Given the description of an element on the screen output the (x, y) to click on. 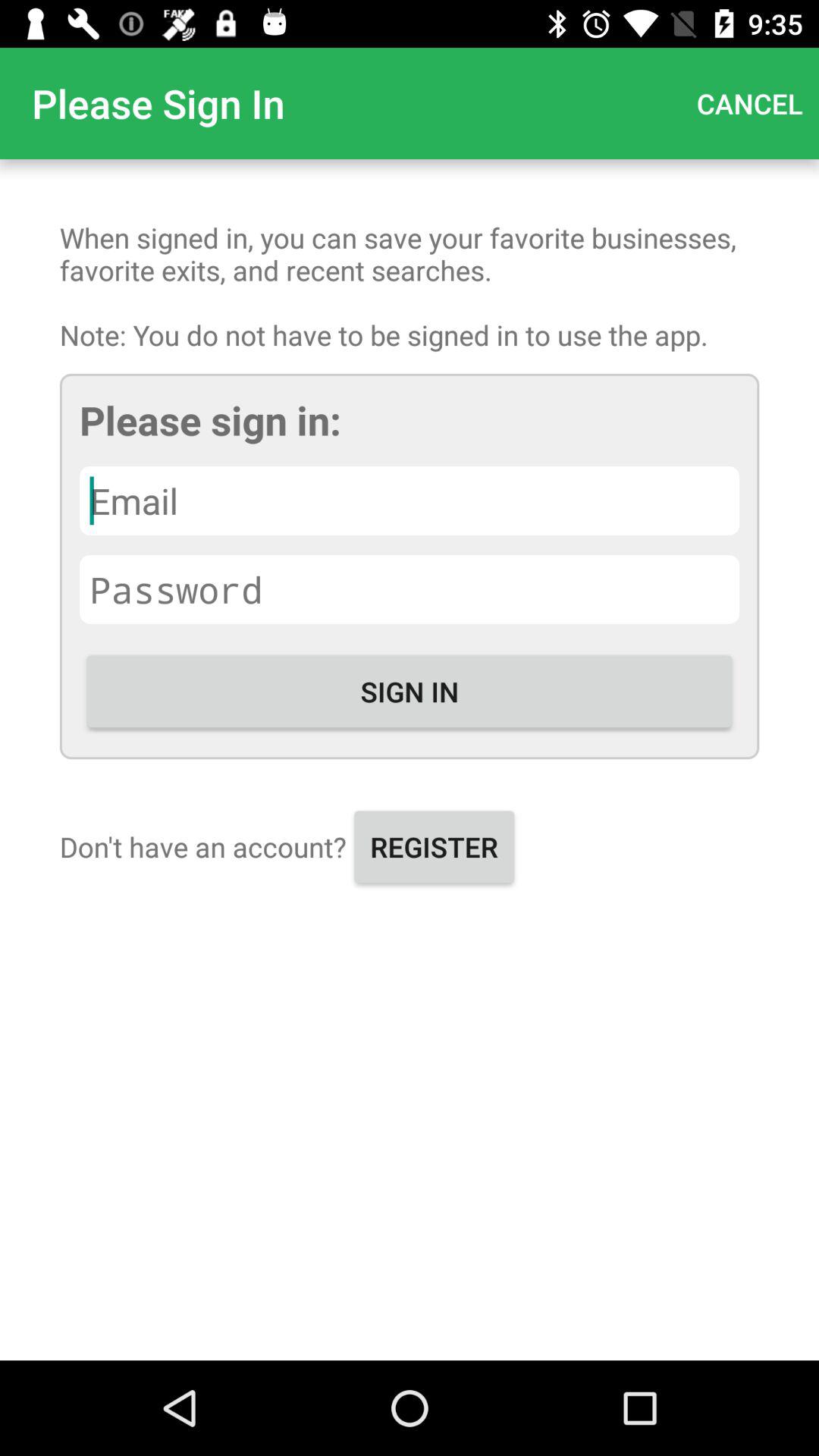
flip until the cancel (749, 103)
